Given the description of an element on the screen output the (x, y) to click on. 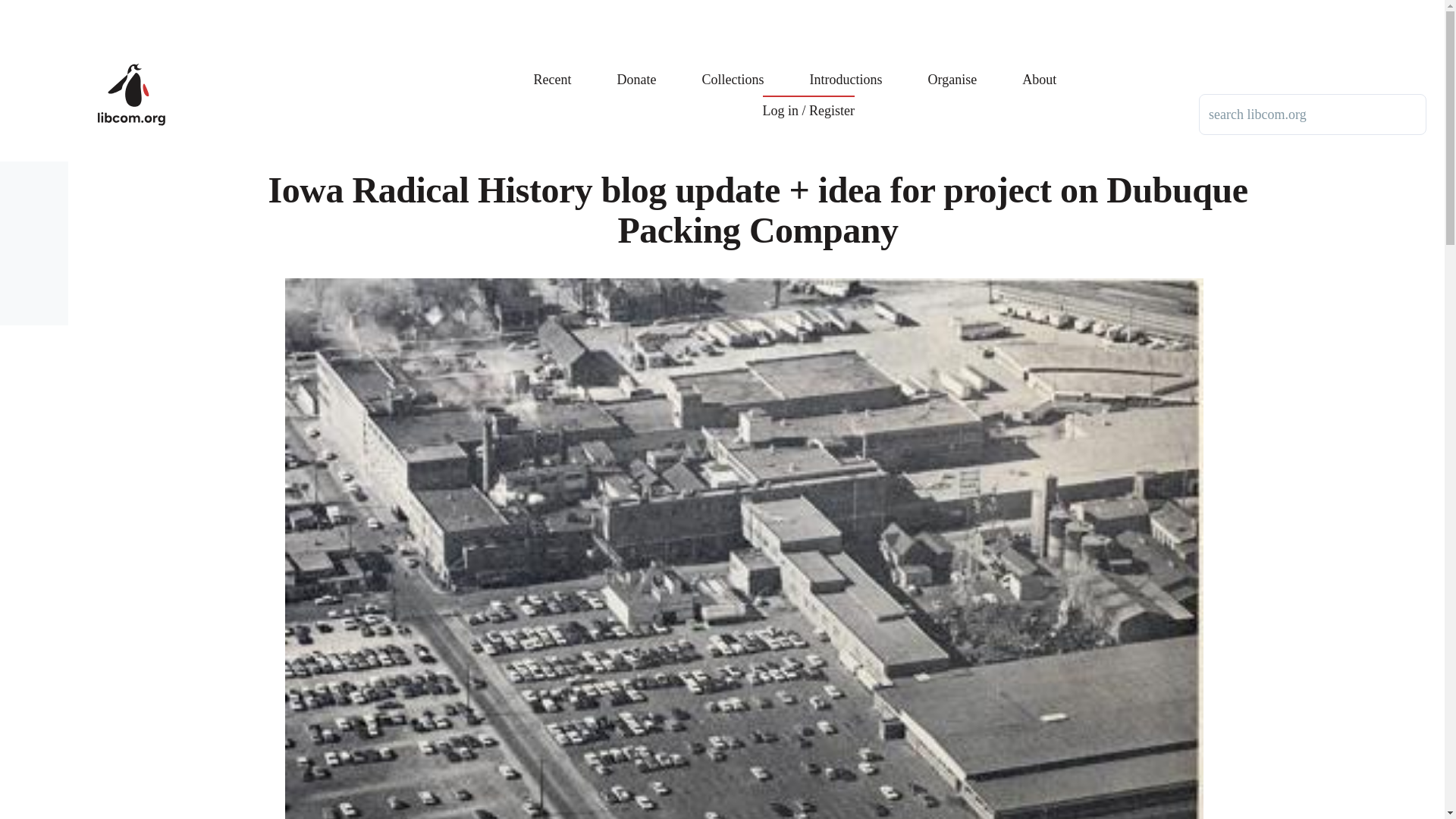
Collections (732, 68)
Organise (952, 68)
Introductions (845, 68)
Skip to main content (595, 6)
